Given the description of an element on the screen output the (x, y) to click on. 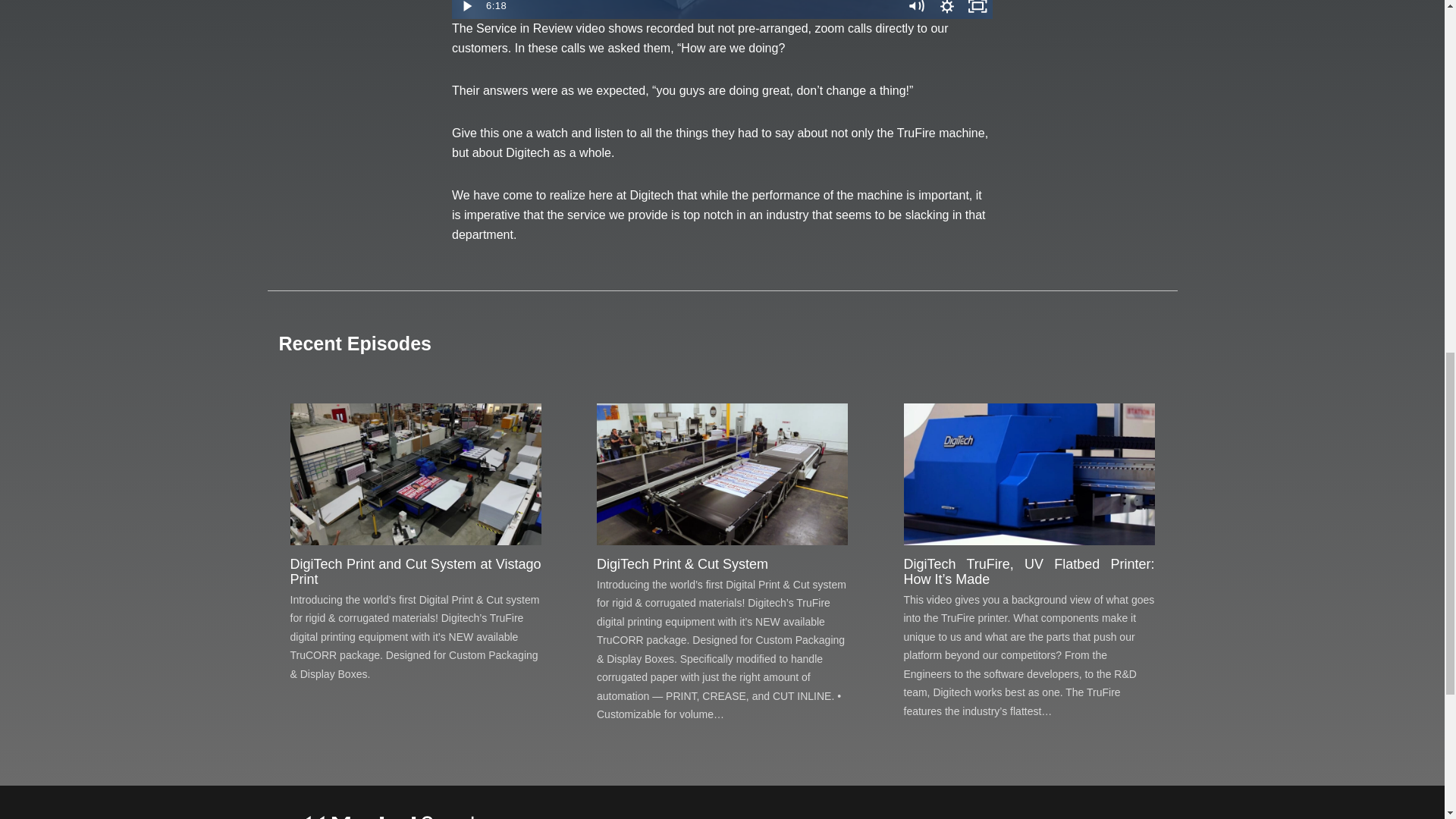
Fullscreen (977, 9)
Play Video (466, 9)
Show settings menu (946, 9)
Mute (916, 9)
